Given the description of an element on the screen output the (x, y) to click on. 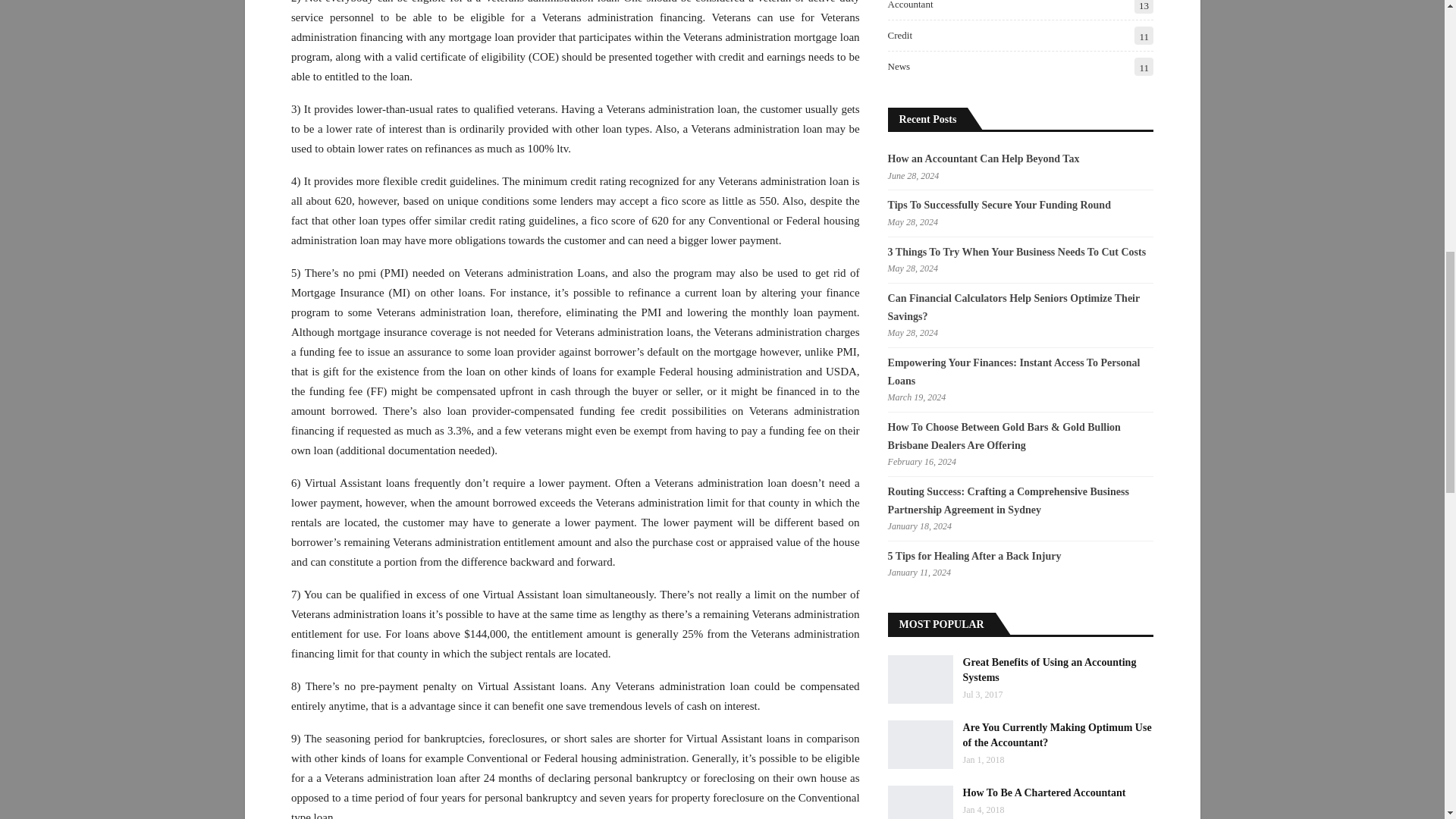
Are You Currently Making Optimum Use of the Accountant? (920, 744)
Great Benefits of Using an Accounting Systems (920, 679)
How To Be A Chartered Accountant (920, 802)
